Given the description of an element on the screen output the (x, y) to click on. 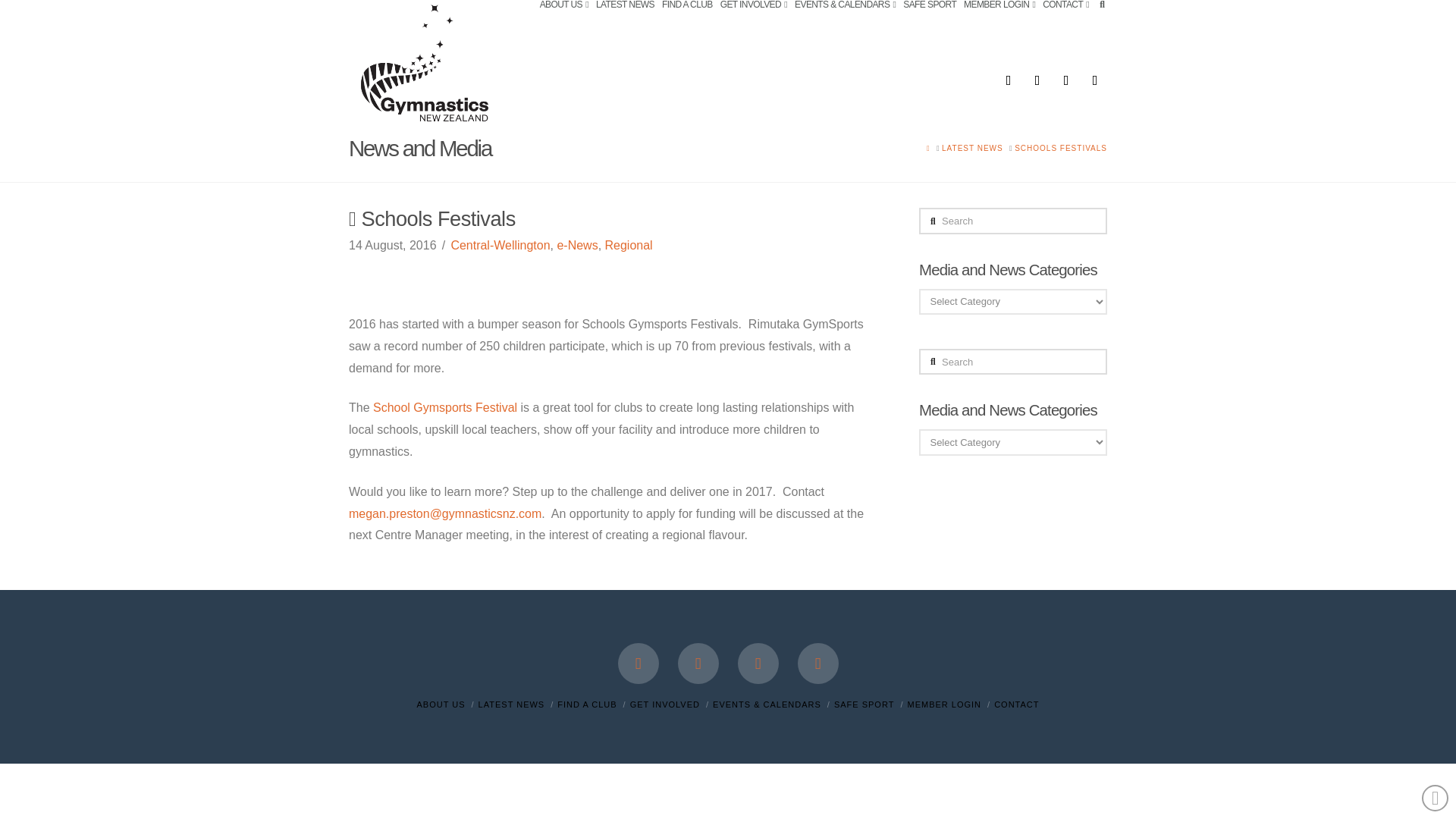
YouTube (1066, 79)
You Are Here (1060, 148)
Instagram (1094, 79)
Facebook (1007, 79)
